Given the description of an element on the screen output the (x, y) to click on. 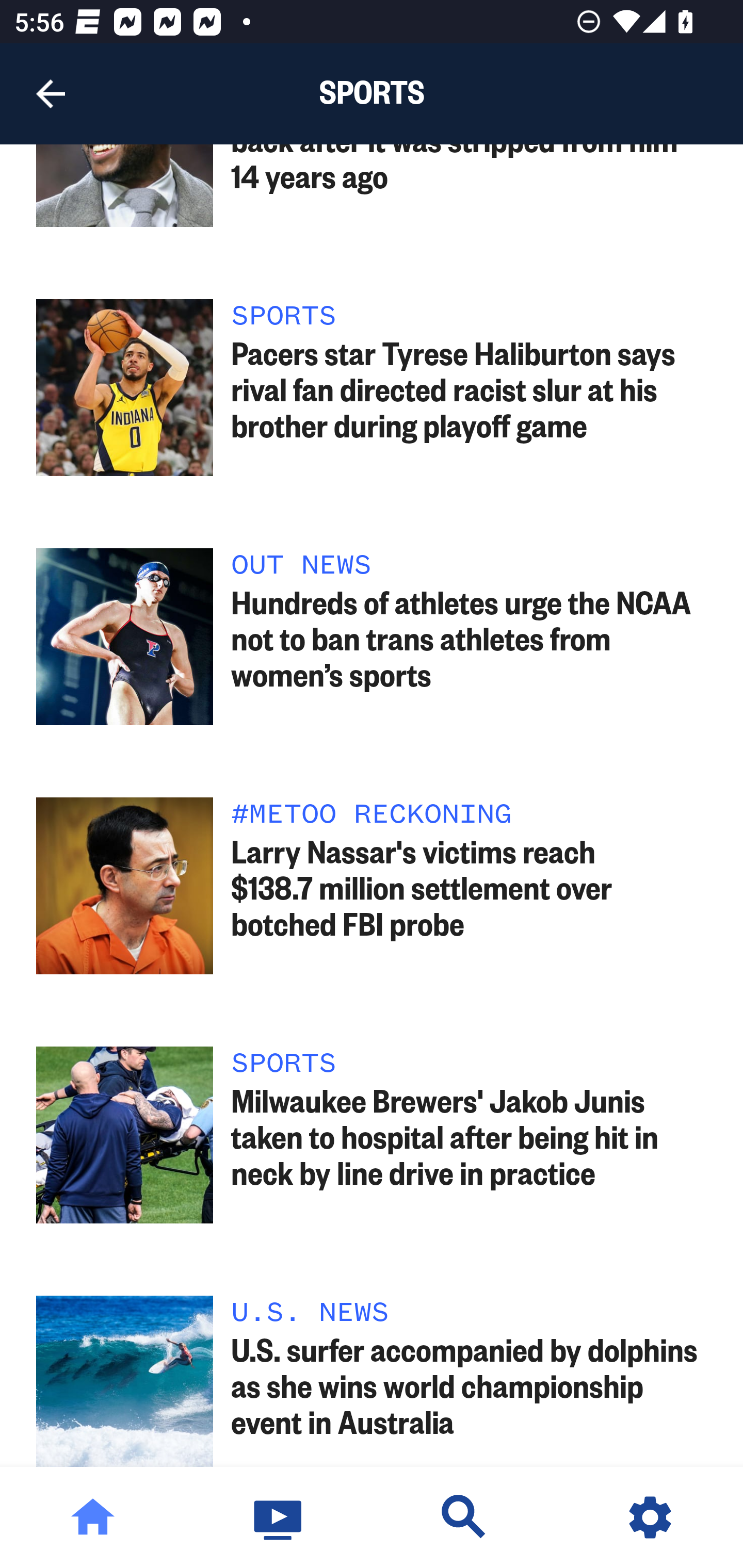
Navigate up (50, 93)
Watch (278, 1517)
Discover (464, 1517)
Settings (650, 1517)
